Given the description of an element on the screen output the (x, y) to click on. 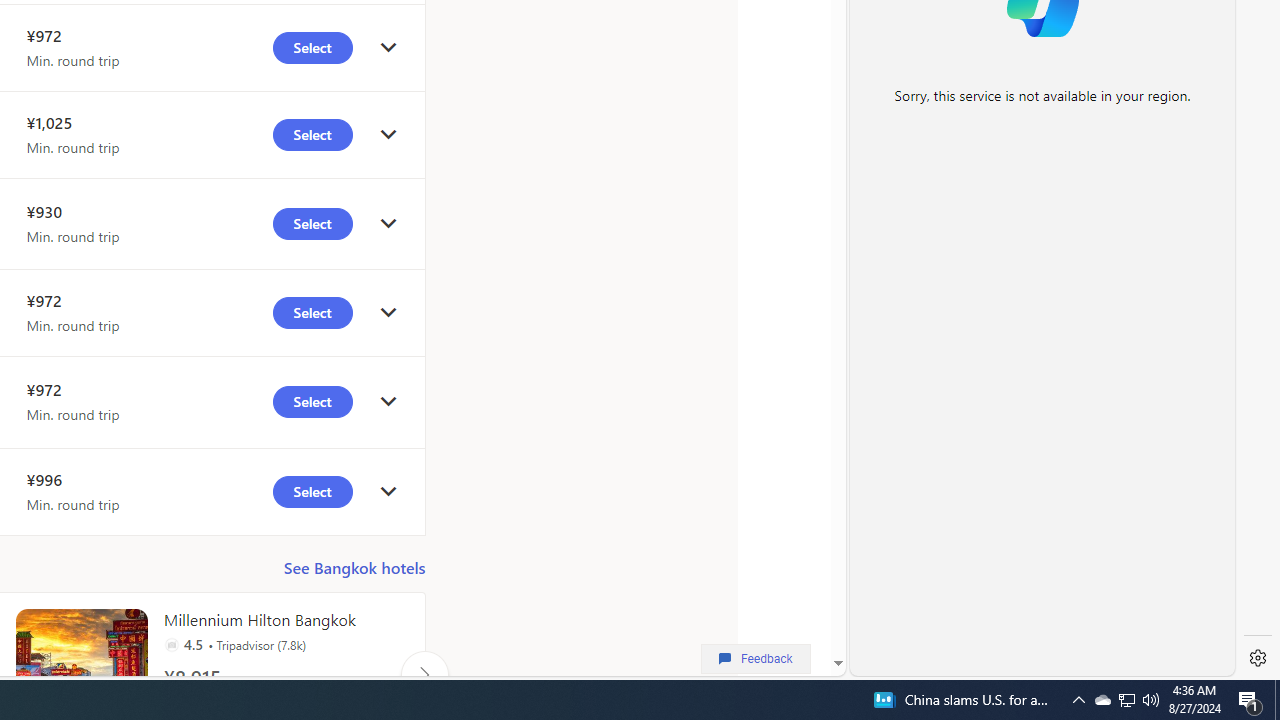
Click to scroll right (424, 674)
click to get details (388, 491)
Tripadvisor (171, 644)
